Given the description of an element on the screen output the (x, y) to click on. 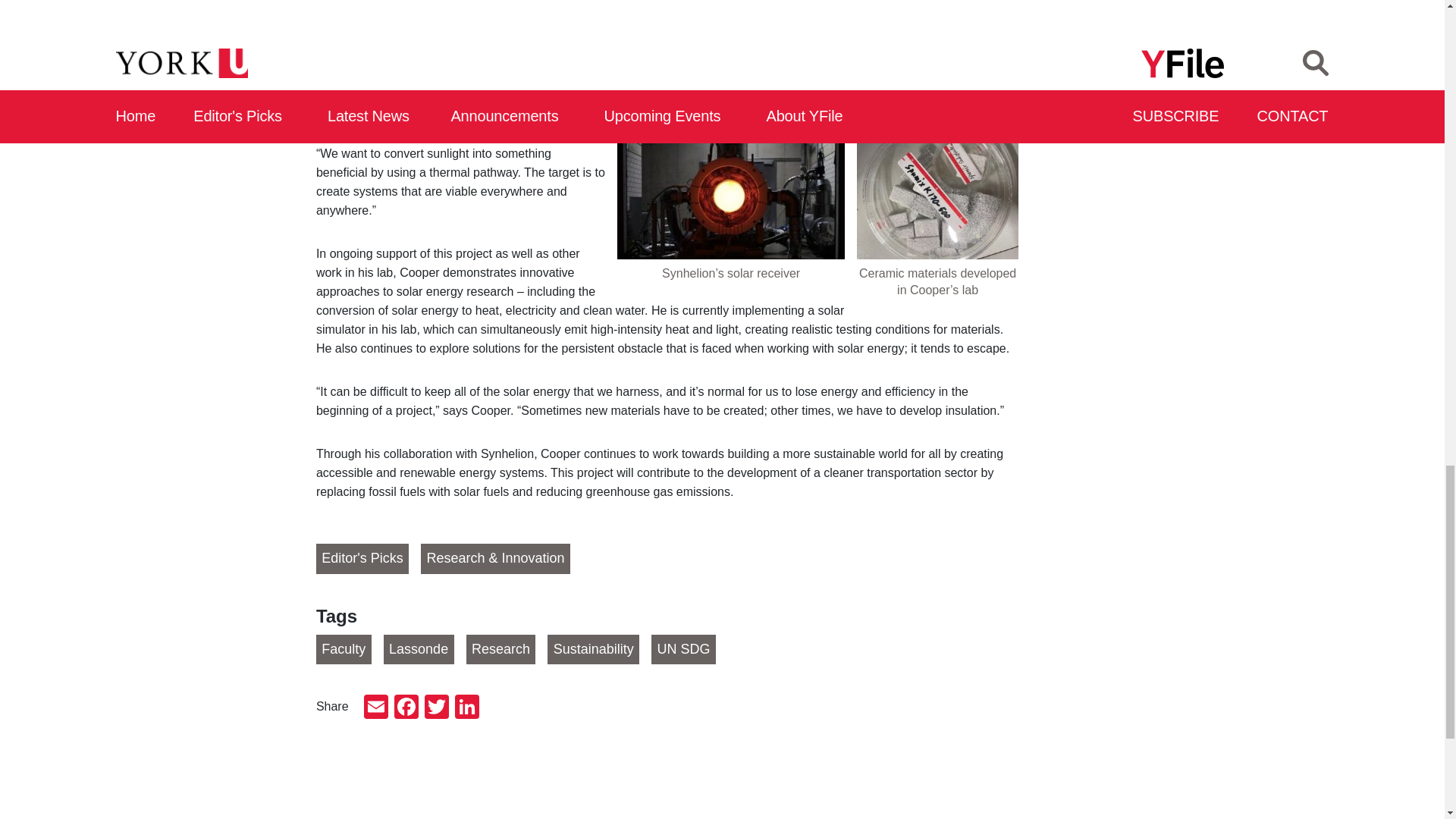
Facebook (406, 708)
Email (376, 708)
Editor's Picks (362, 558)
LinkedIn (466, 708)
Twitter (436, 708)
